Given the description of an element on the screen output the (x, y) to click on. 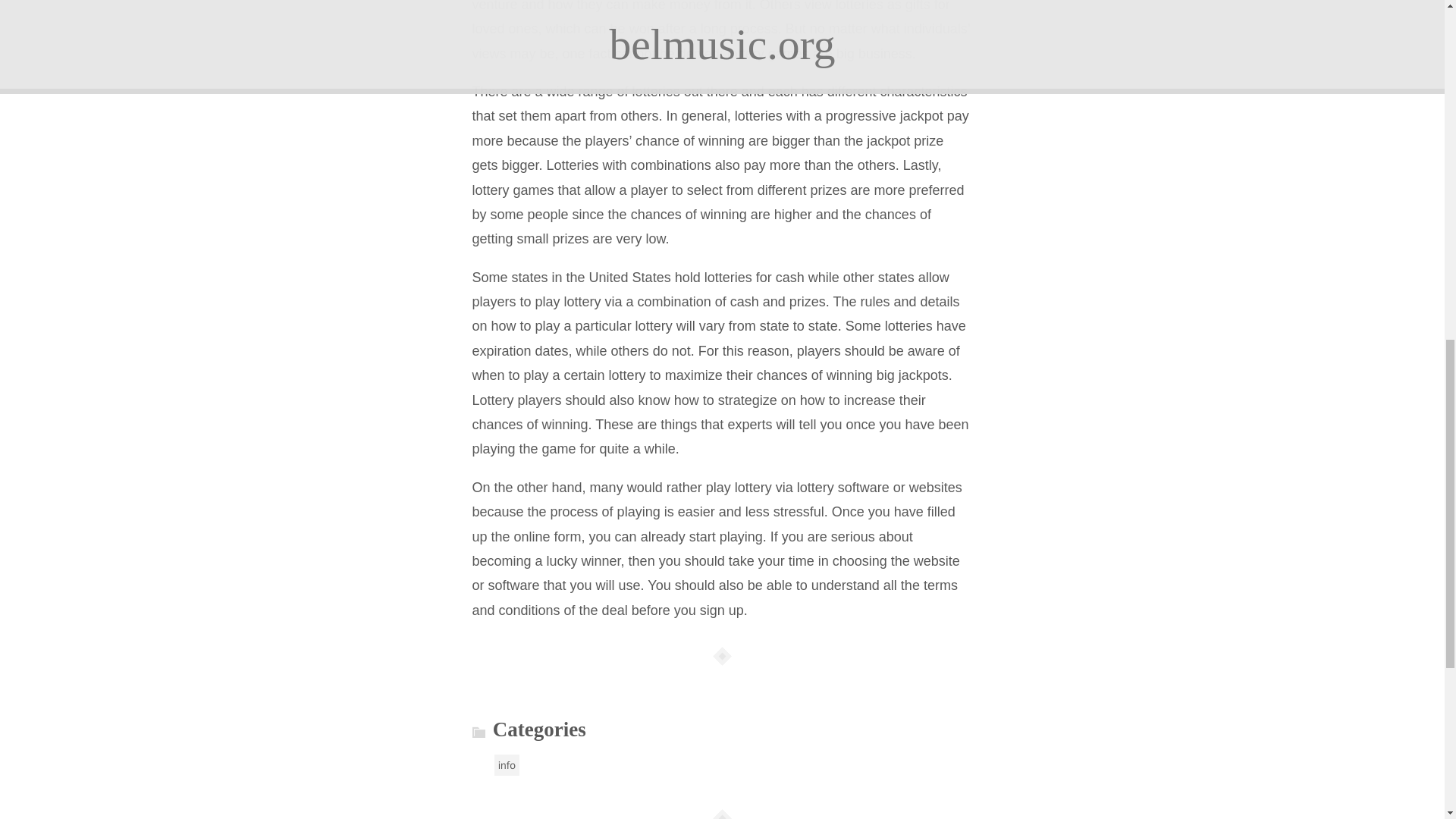
info (507, 764)
